Given the description of an element on the screen output the (x, y) to click on. 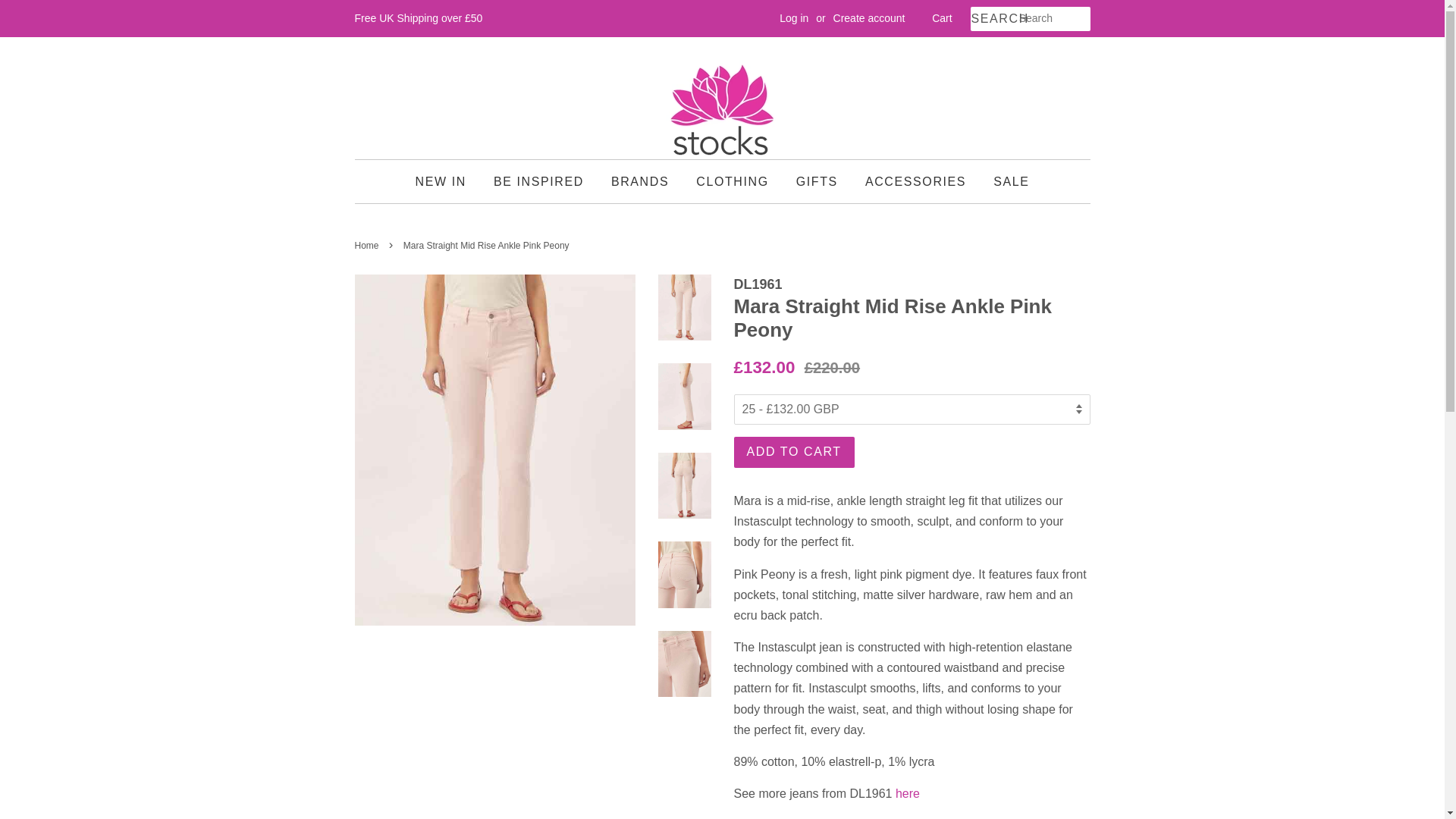
Create account (868, 18)
NEW IN (445, 181)
BE INSPIRED (538, 181)
Back to the frontpage (368, 245)
CLOTHING (731, 181)
BRANDS (639, 181)
Cart (941, 18)
Log in (793, 18)
SEARCH (994, 18)
